Given the description of an element on the screen output the (x, y) to click on. 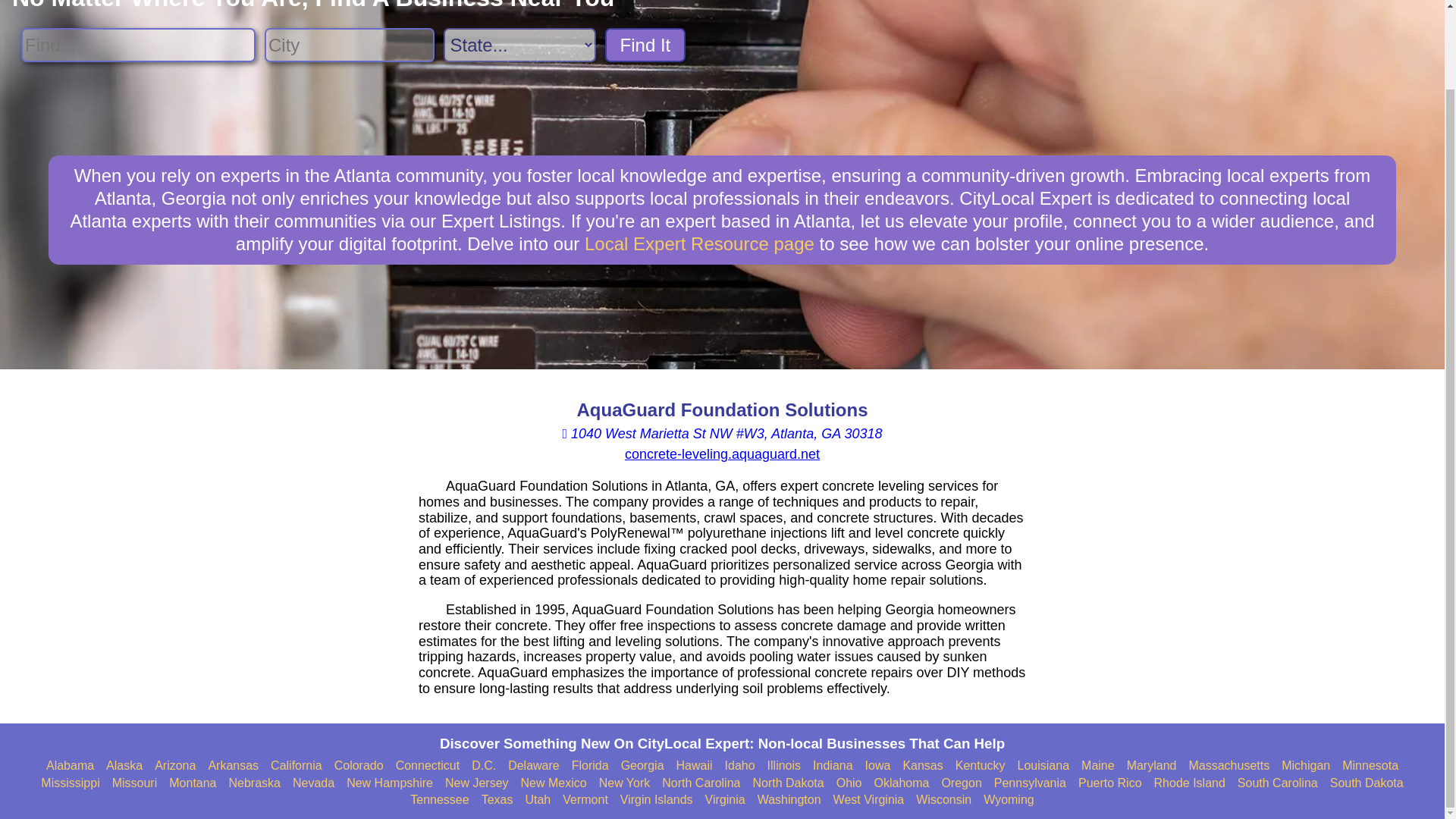
New Hampshire (389, 783)
Colorado (359, 766)
Find Businesses in Arizona (174, 766)
Find Businesses in D.C. (483, 766)
Find Businesses in Idaho (740, 766)
Find Businesses in Alaska (124, 766)
Iowa (877, 766)
Find Businesses in Hawaii (695, 766)
Delaware (533, 766)
New Jersey (476, 783)
Find Businesses in California (295, 766)
Alabama (70, 766)
Find Businesses in Colorado (359, 766)
Nevada (313, 783)
Connecticut (428, 766)
